Given the description of an element on the screen output the (x, y) to click on. 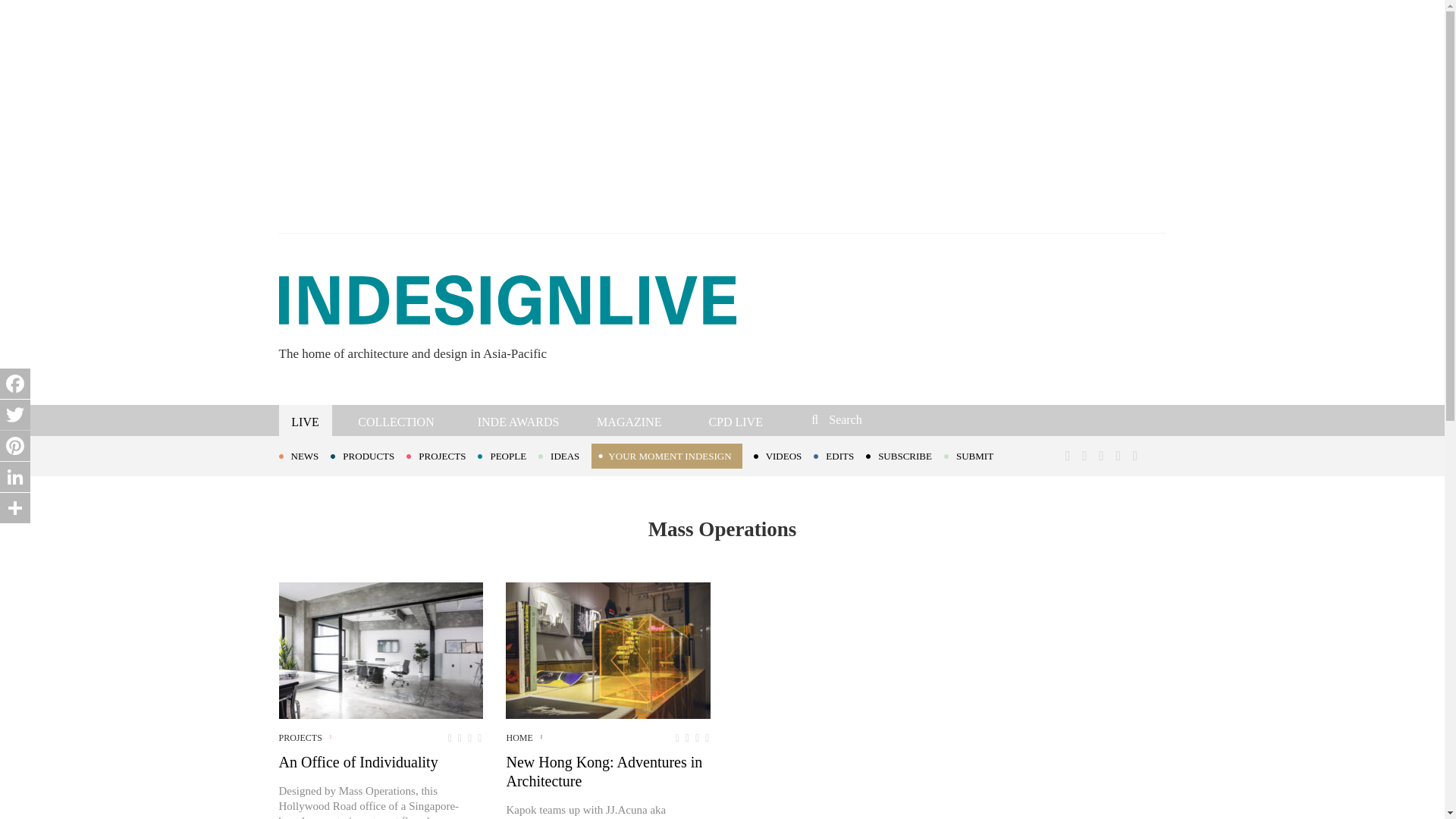
Pinterest (15, 445)
SUBMIT (974, 455)
PEOPLE (507, 455)
YOUR MOMENT INDESIGN (666, 455)
Twitter (15, 414)
LinkedIn (15, 476)
SUBSCRIBE (904, 455)
NEWS (305, 455)
New Hong Kong: Adventures in Architecture (607, 650)
PROJECTS (441, 455)
VIDEOS (783, 455)
PRODUCTS (368, 455)
An Office of Individuality (381, 650)
Search (913, 418)
